Given the description of an element on the screen output the (x, y) to click on. 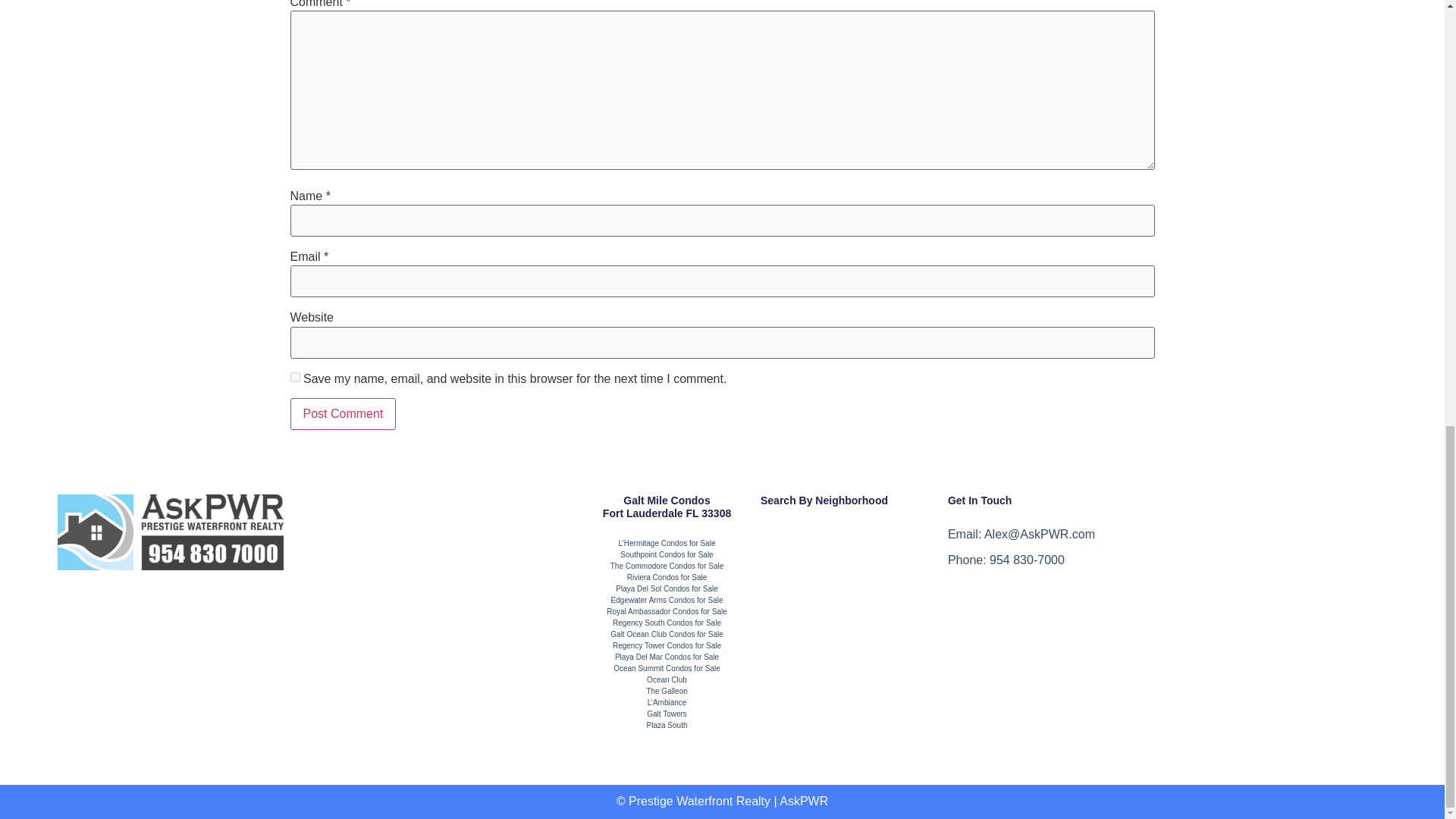
yes (294, 377)
Post Comment (342, 413)
3351 Galt Ocean Dr Fort Lauderdale, FL 33308 (1274, 587)
